Given the description of an element on the screen output the (x, y) to click on. 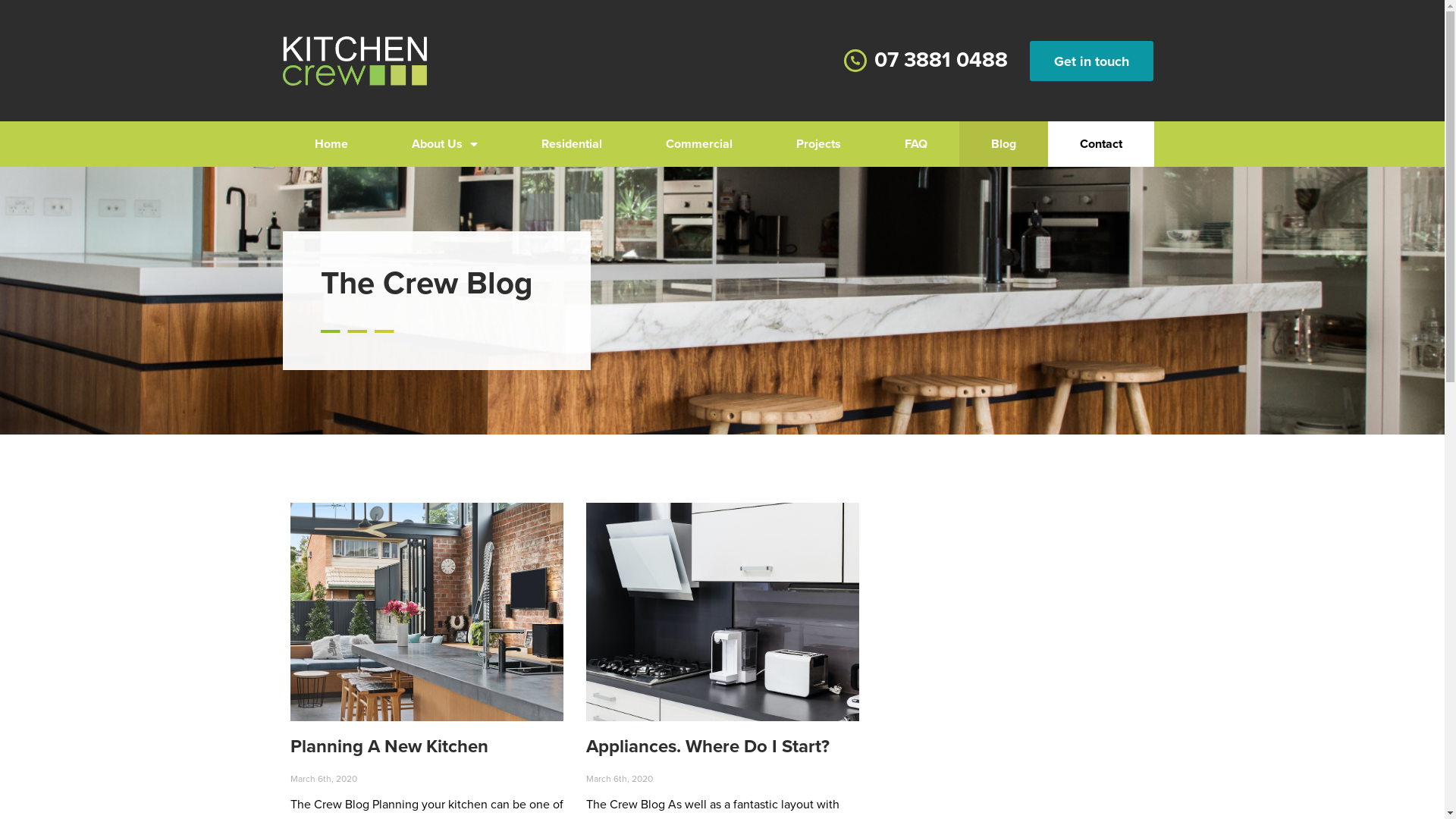
FAQ Element type: text (915, 143)
Blog Element type: text (1002, 143)
07 3881 0488 Element type: text (940, 59)
Contact Element type: text (1101, 143)
Projects Element type: text (818, 143)
Appliances. Where Do I Start? Element type: text (706, 746)
Get in touch Element type: text (1091, 60)
Commercial Element type: text (698, 143)
About Us Element type: text (443, 143)
Planning A New Kitchen Element type: text (388, 746)
Home Element type: text (330, 143)
Residential Element type: text (571, 143)
